Given the description of an element on the screen output the (x, y) to click on. 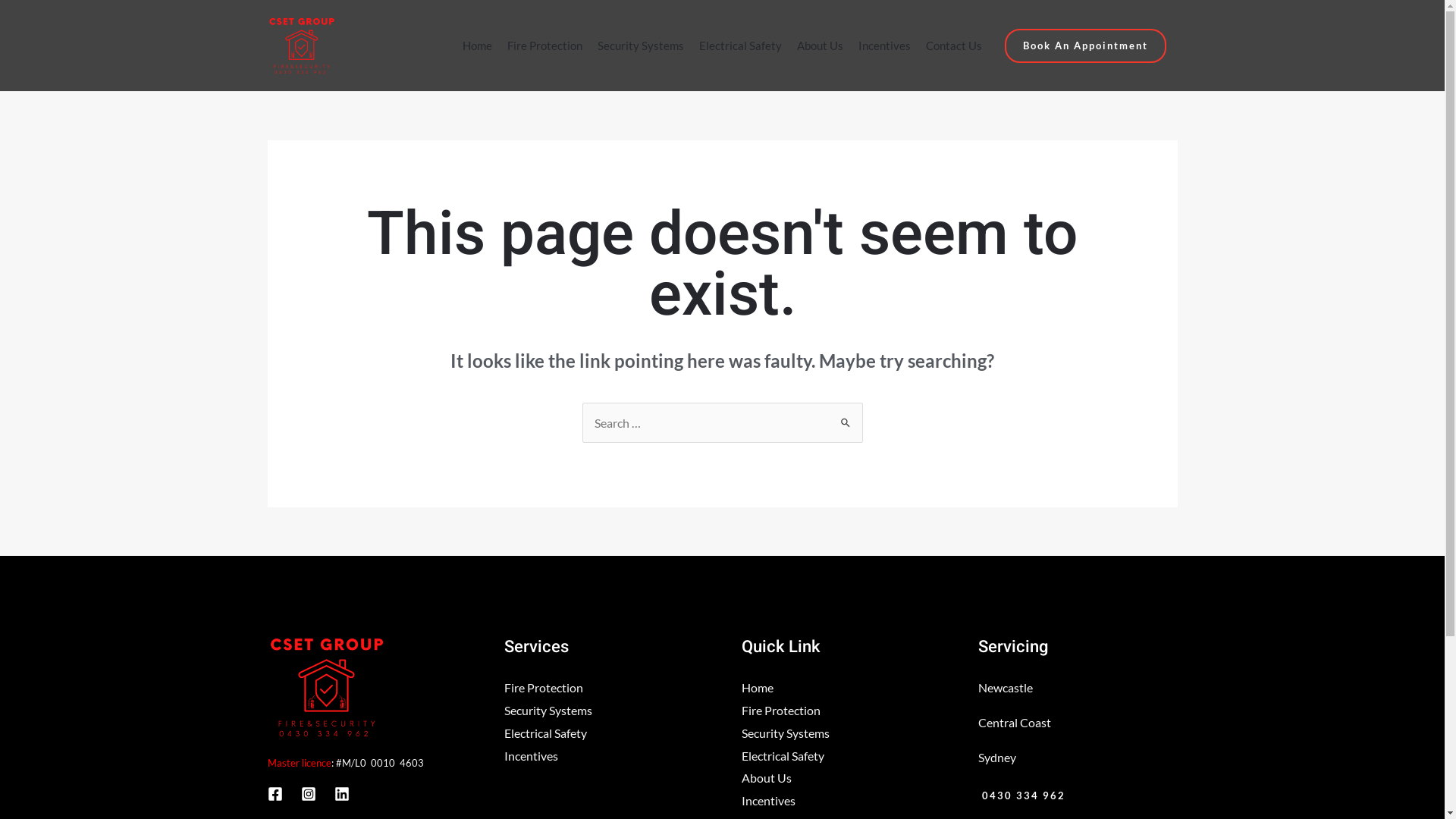
Security Systems Element type: text (640, 45)
Incentives Element type: text (884, 45)
 0430 334 962 Element type: text (1021, 795)
Security Systems Element type: text (548, 709)
Home Element type: text (477, 45)
Fire Protection Element type: text (780, 709)
Electrical Safety Element type: text (782, 755)
Contact Us Element type: text (953, 45)
Incentives Element type: text (531, 755)
Electrical Safety Element type: text (545, 732)
Incentives Element type: text (768, 800)
About Us Element type: text (819, 45)
Fire Protection Element type: text (543, 687)
About Us Element type: text (766, 777)
Security Systems Element type: text (785, 732)
Home Element type: text (757, 687)
Fire Protection Element type: text (544, 45)
Book An Appointment Element type: text (1085, 45)
Electrical Safety Element type: text (740, 45)
Search Element type: text (845, 417)
